Given the description of an element on the screen output the (x, y) to click on. 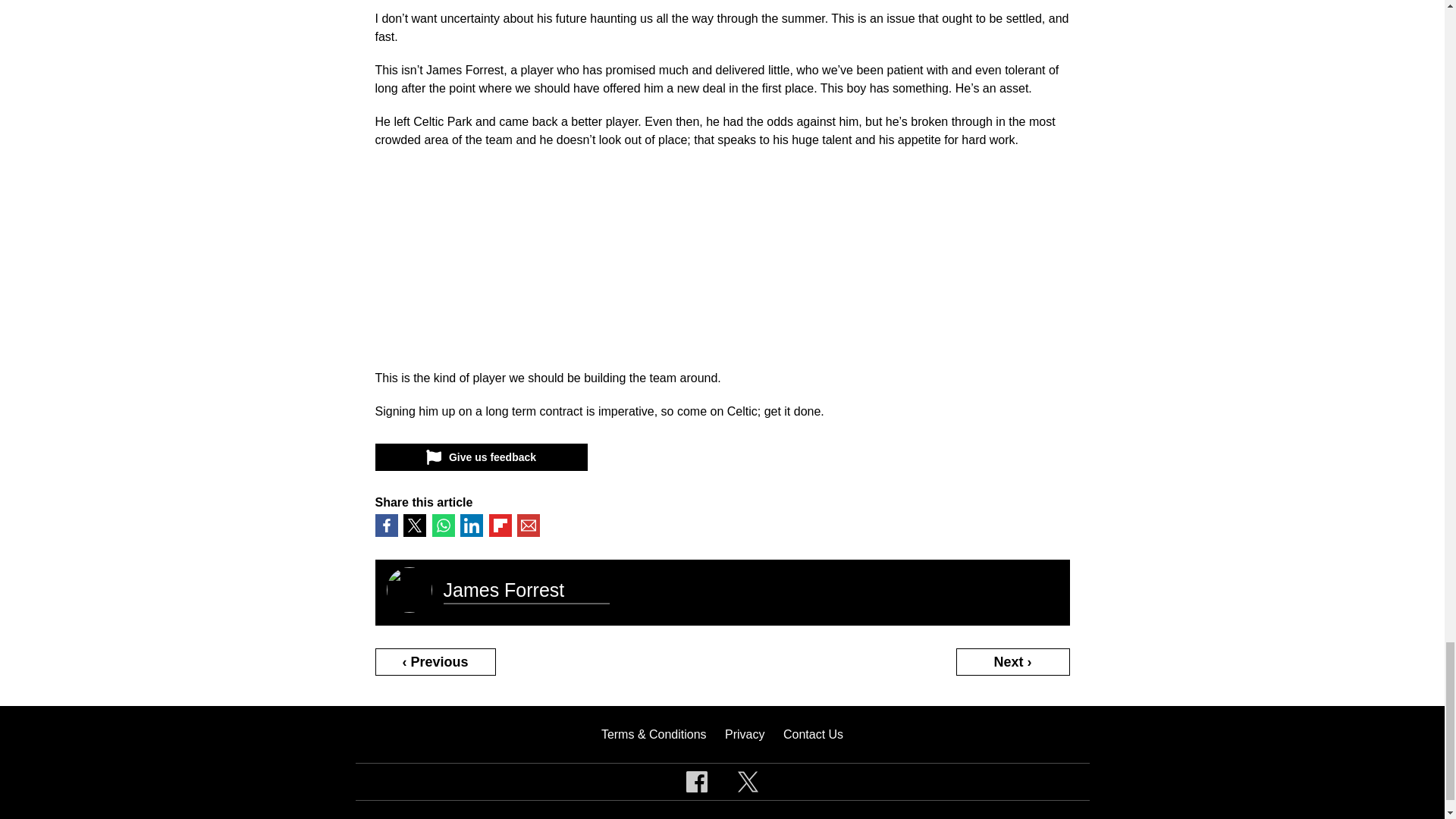
share on Twitter (414, 525)
Give us feedback (480, 456)
share on Facebook (385, 525)
